Given the description of an element on the screen output the (x, y) to click on. 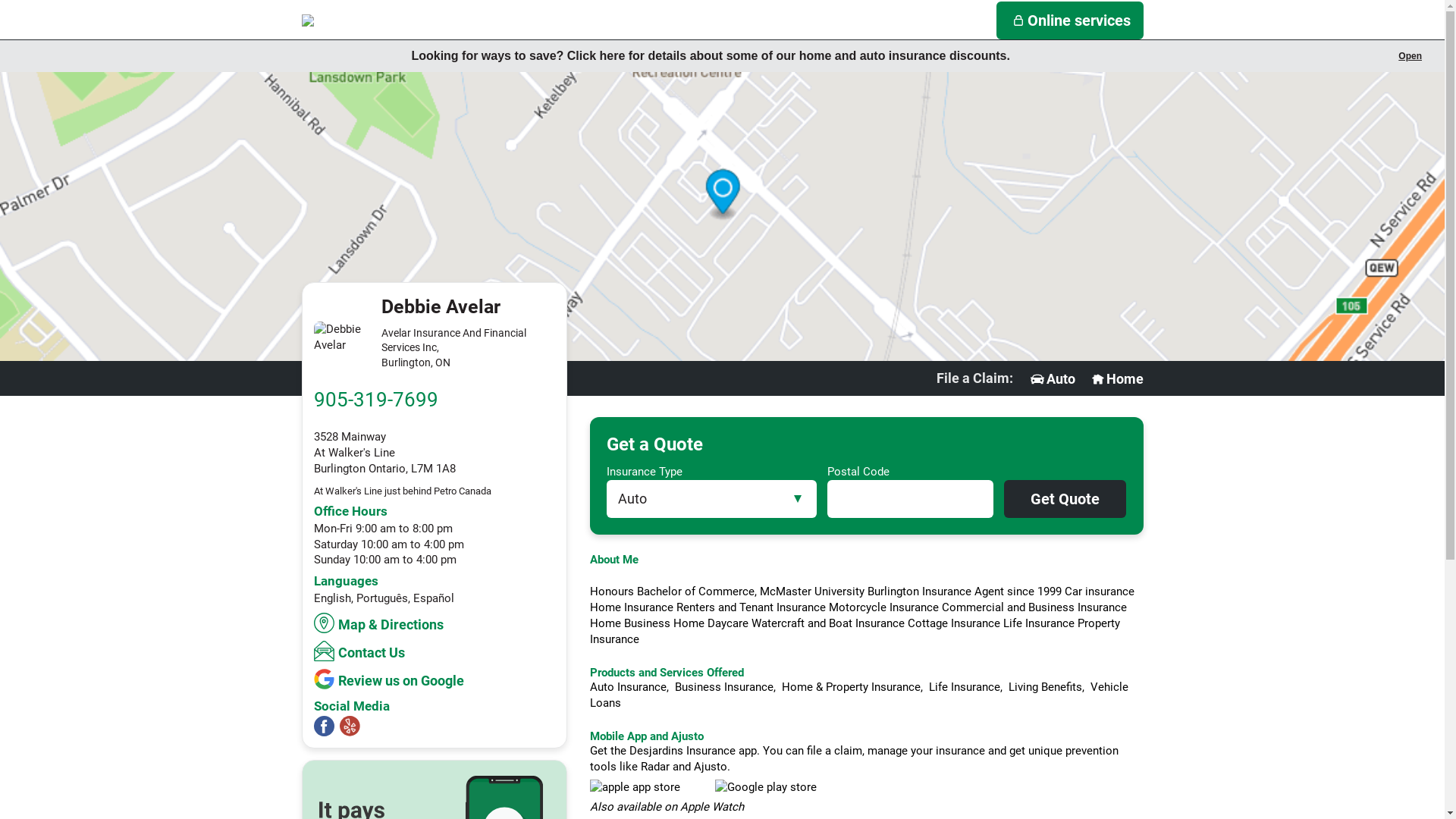
Auto Element type: text (1051, 378)
Online services Element type: text (1069, 20)
Review us on Google Element type: text (390, 678)
Home Element type: text (1115, 378)
Map & Directions Element type: text (380, 622)
Navigate to Desjardins Insurance Element type: hover (377, 20)
Contact Us Element type: text (360, 650)
Open Element type: text (1409, 55)
Get Quote Element type: text (1065, 498)
905-319-7699 Element type: text (375, 399)
